Given the description of an element on the screen output the (x, y) to click on. 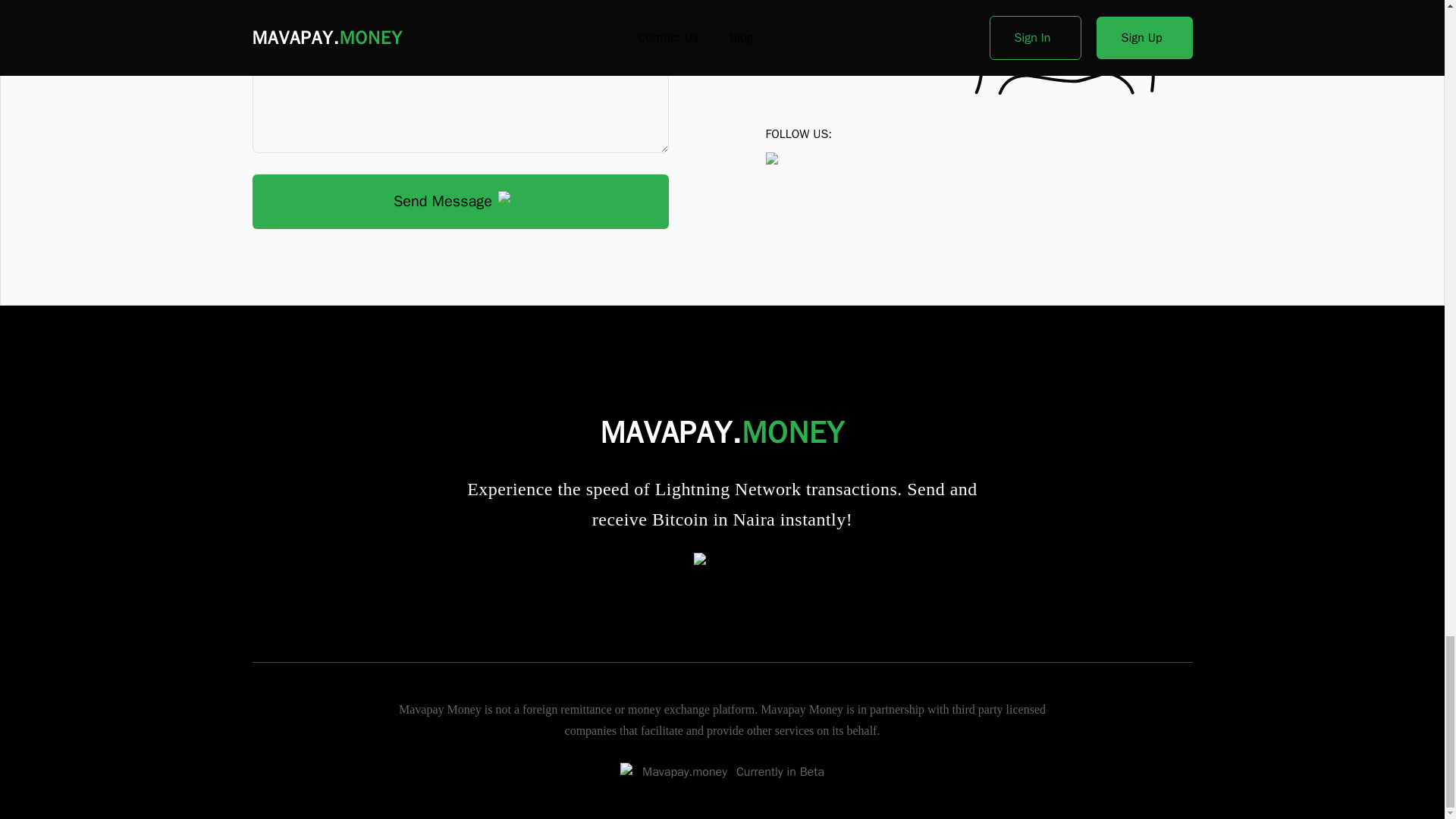
Send Message (459, 201)
Twitter (721, 561)
